Given the description of an element on the screen output the (x, y) to click on. 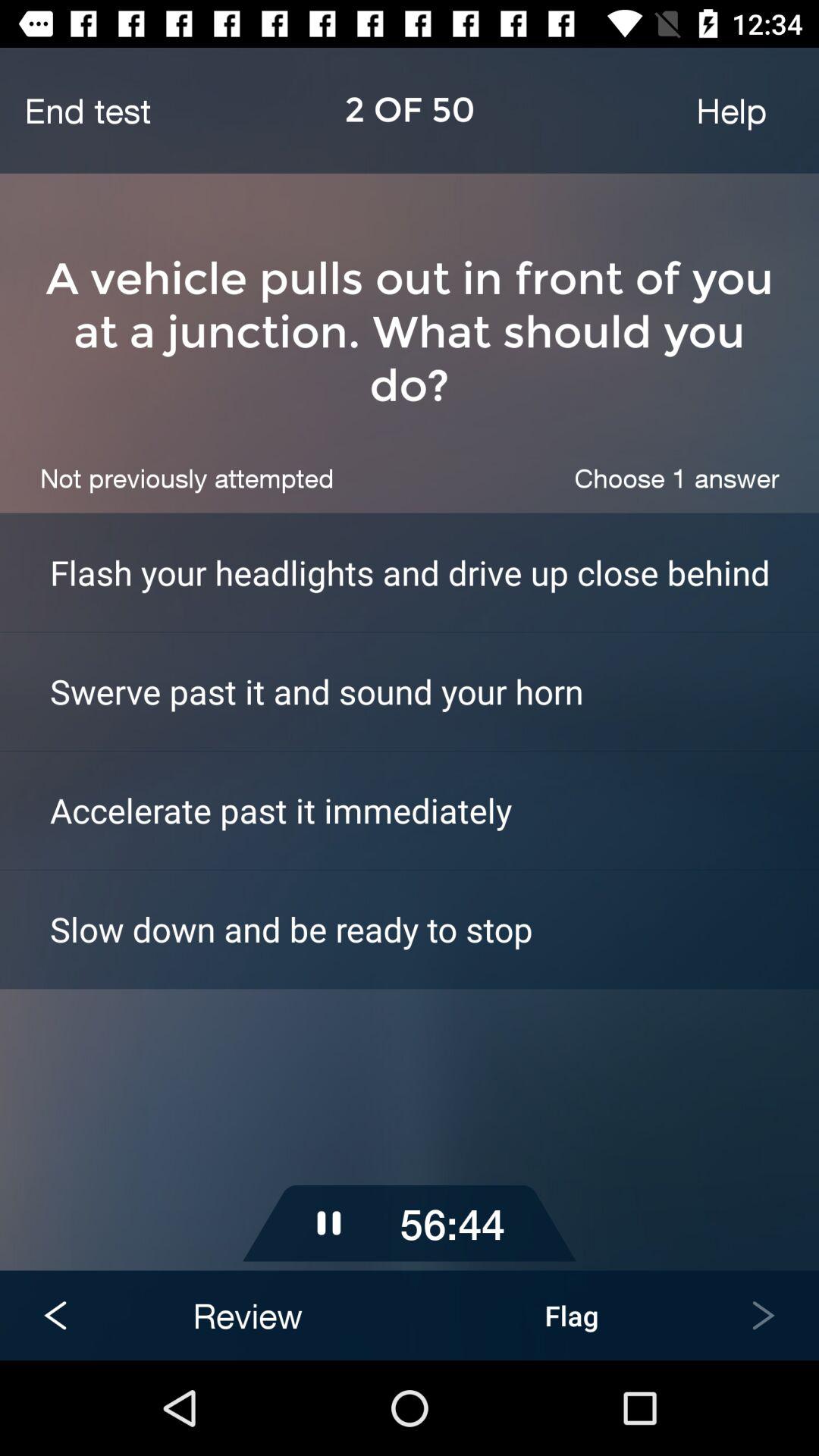
tap slow down and (434, 929)
